Given the description of an element on the screen output the (x, y) to click on. 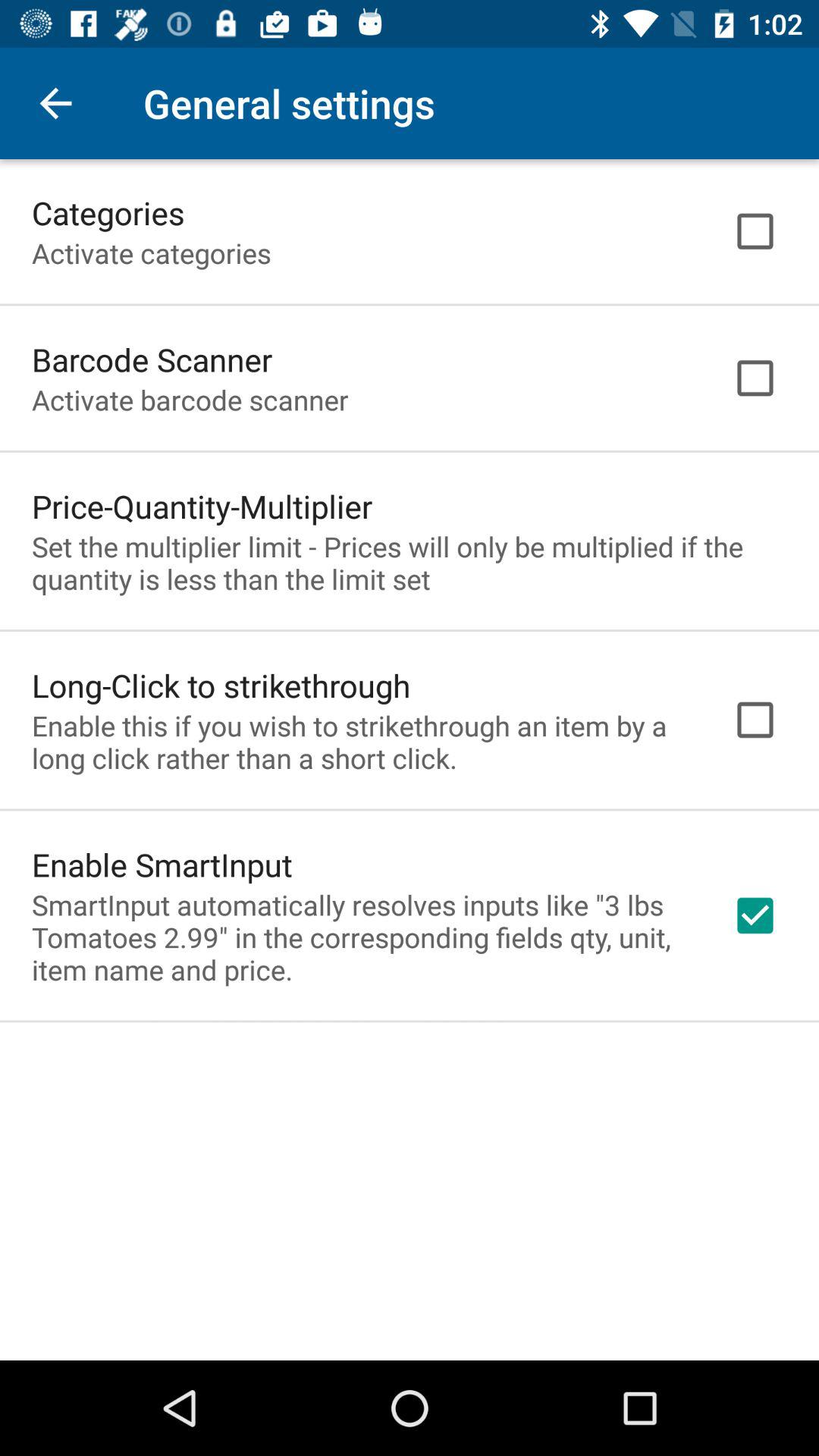
click icon to the left of the general settings (55, 103)
